Given the description of an element on the screen output the (x, y) to click on. 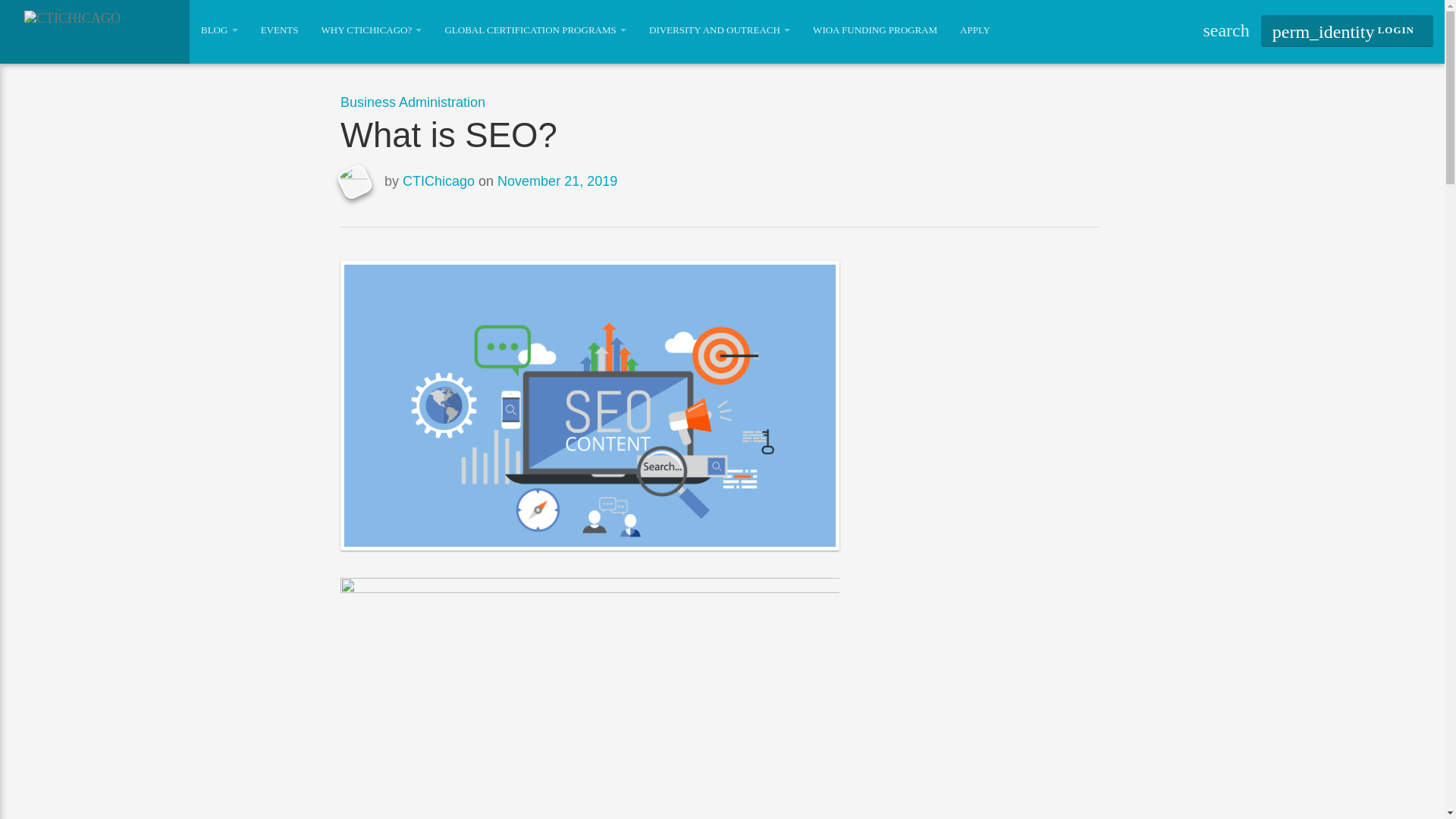
Events (279, 29)
DIVERSITY AND OUTREACH (719, 29)
search (1225, 30)
Why CTIChicago? (370, 29)
WIOA FUNDING PROGRAM (875, 29)
Blog (218, 29)
EVENTS (279, 29)
WHY CTICHICAGO? (370, 29)
BLOG (218, 29)
GLOBAL CERTIFICATION PROGRAMS (534, 29)
